Given the description of an element on the screen output the (x, y) to click on. 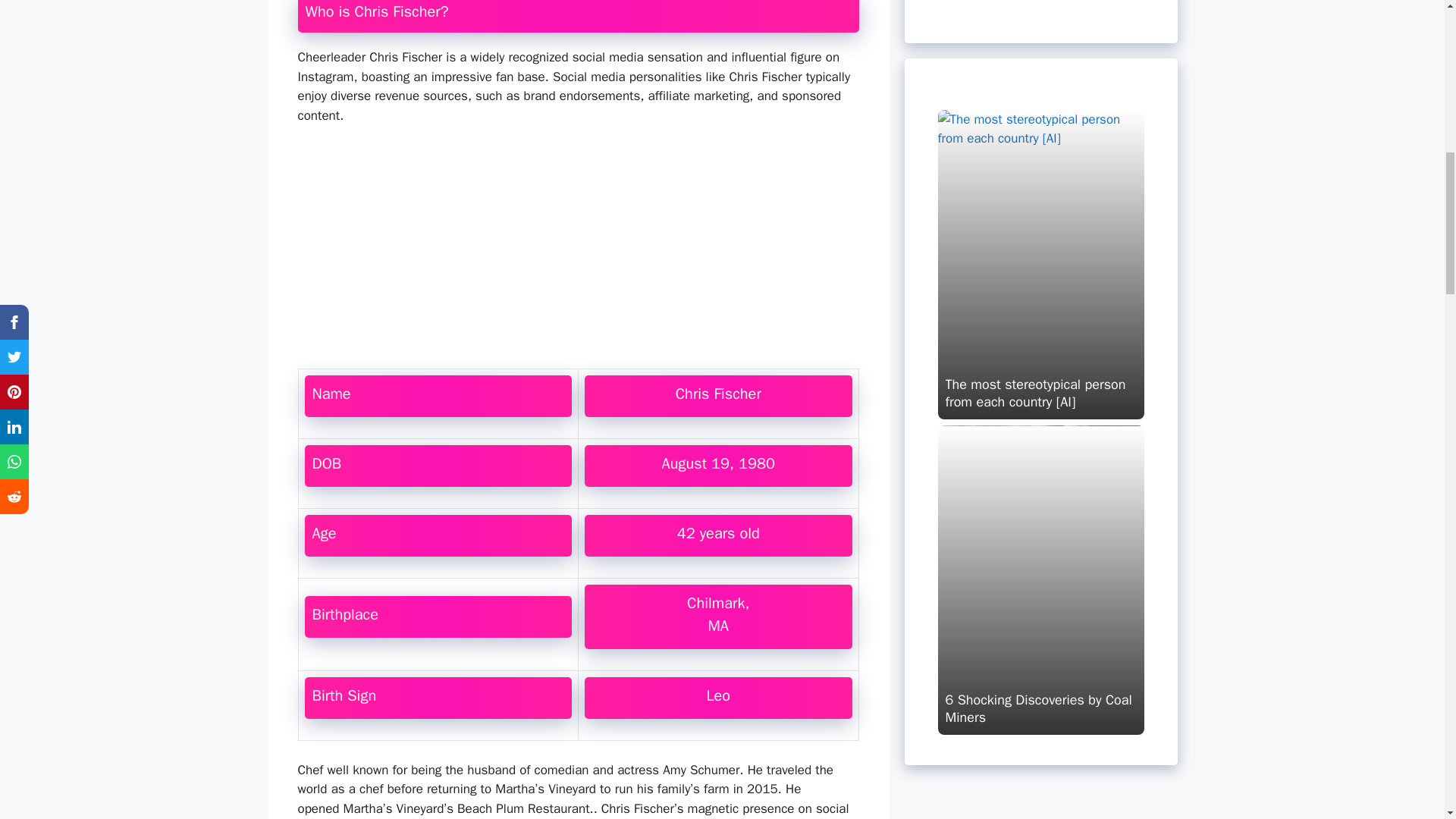
Advertisement (576, 250)
